Given the description of an element on the screen output the (x, y) to click on. 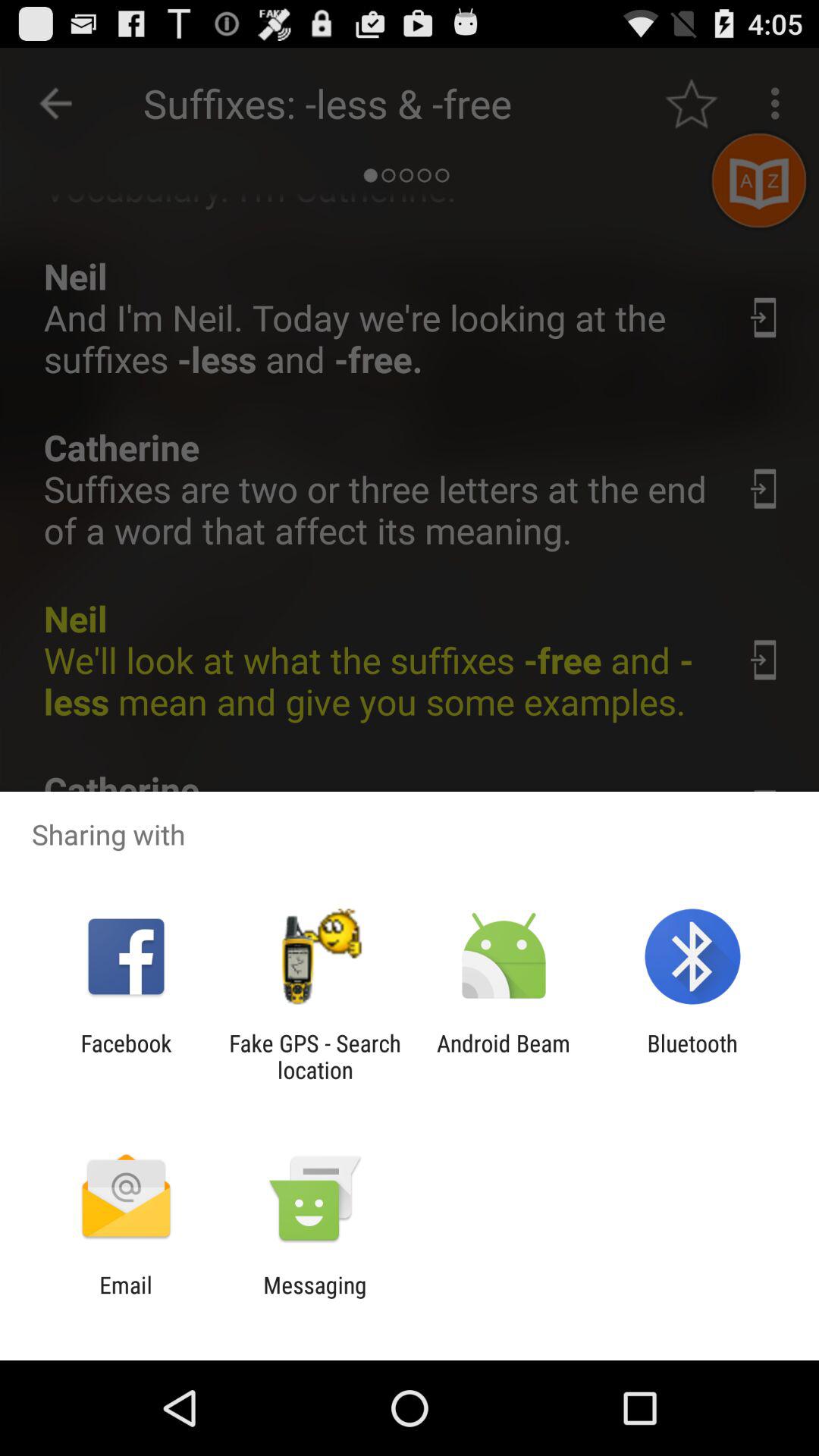
tap the app to the left of the bluetooth icon (503, 1056)
